Given the description of an element on the screen output the (x, y) to click on. 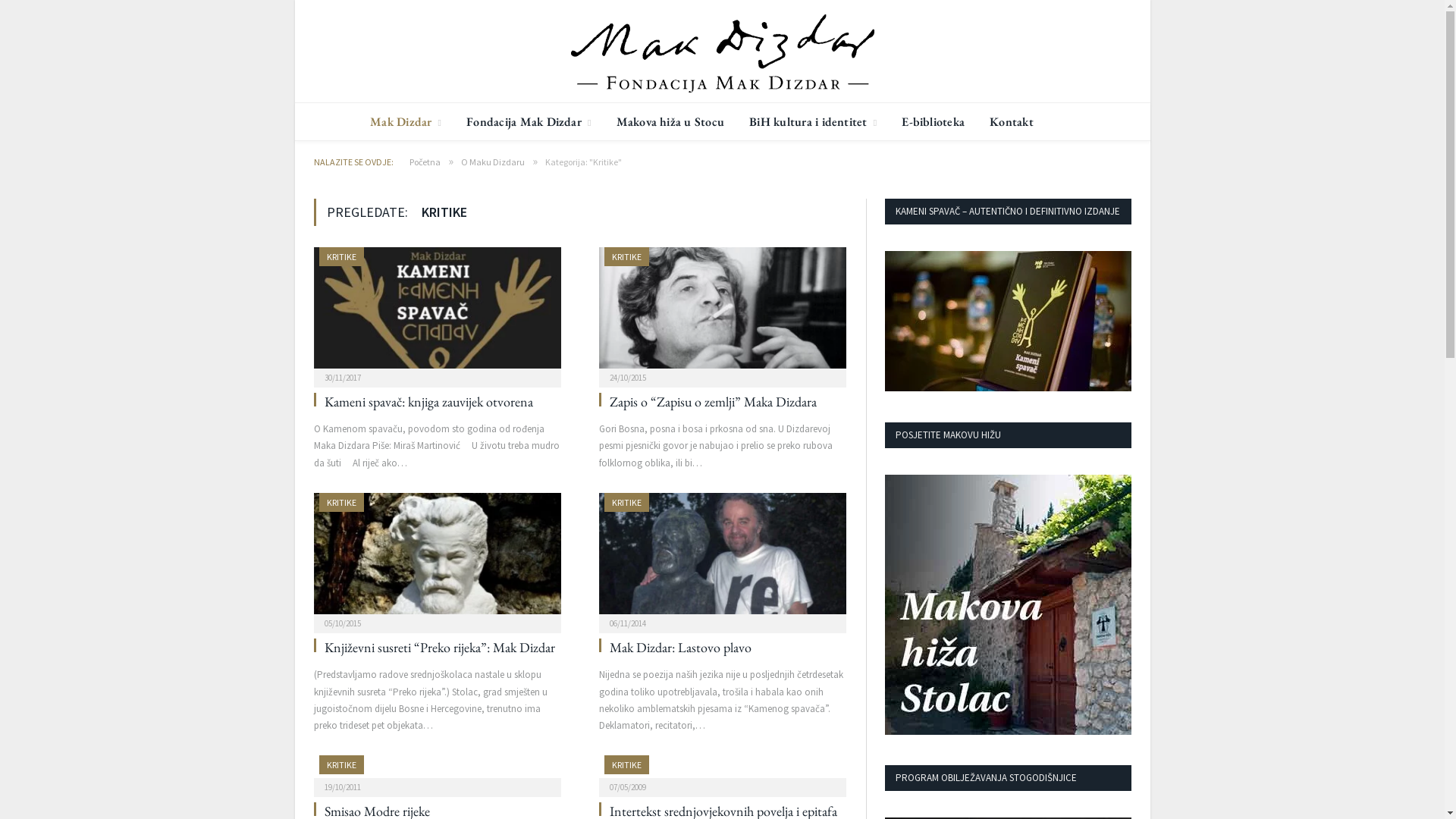
O Maku Dizdaru Element type: text (492, 161)
KRITIKE Element type: text (340, 502)
BiH kultura i identitet Element type: text (812, 121)
Fondacija Mak Dizdar Element type: text (528, 121)
Mak Dizdar Element type: text (405, 121)
KRITIKE Element type: text (340, 764)
Mak Dizdar: Lastovo plavo Element type: hover (722, 557)
Kontakt Element type: text (1011, 121)
Mak Dizdar: Lastovo plavo Element type: text (680, 646)
E-biblioteka Element type: text (932, 121)
Smisao Modre rijeke Element type: hover (437, 771)
KRITIKE Element type: text (625, 764)
KRITIKE Element type: text (625, 502)
KRITIKE Element type: text (340, 256)
KRITIKE Element type: text (625, 256)
Search Element type: hover (1115, 113)
Fondacija Mak Dizdar Element type: hover (721, 50)
